Given the description of an element on the screen output the (x, y) to click on. 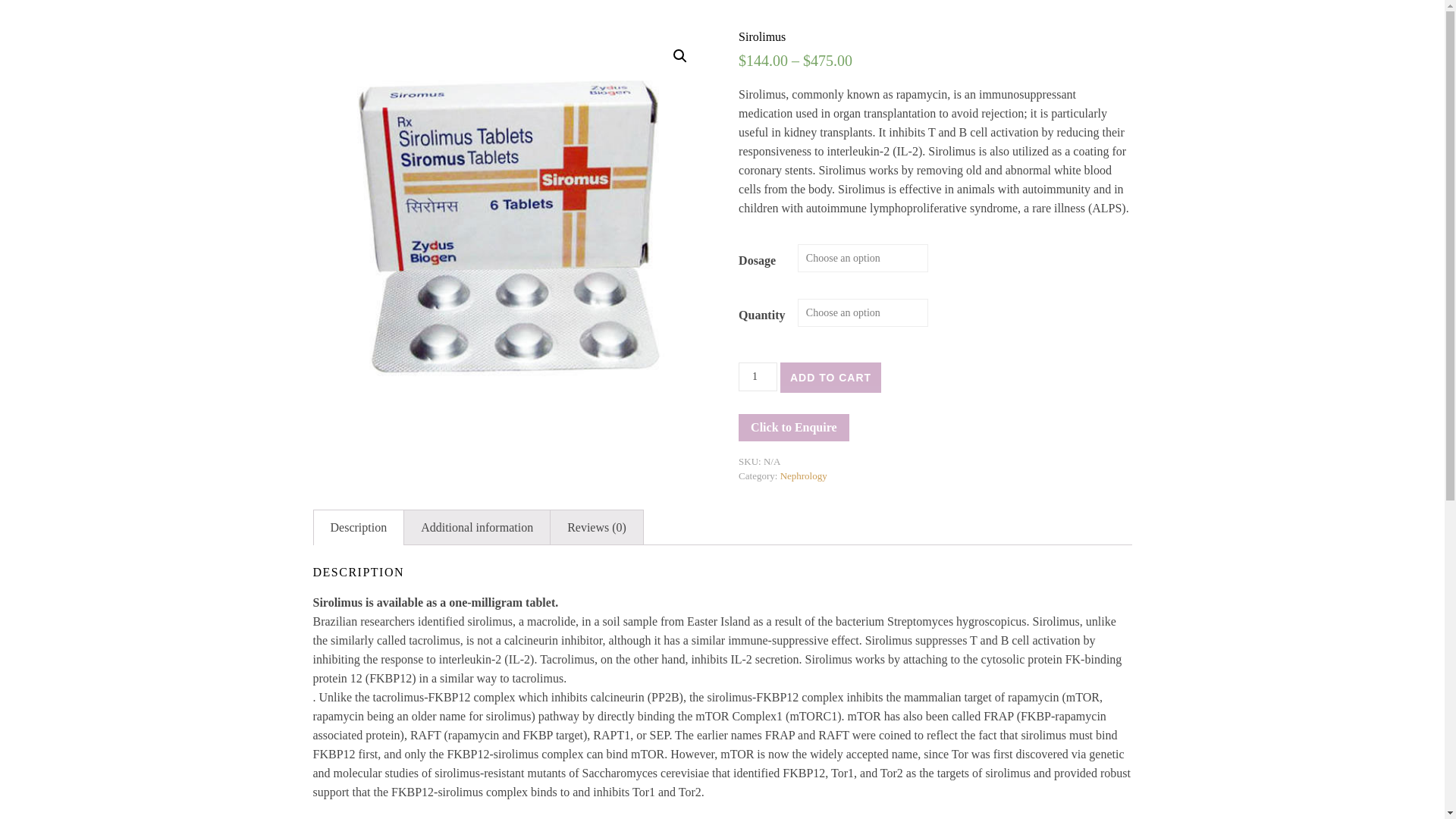
Description (359, 527)
1 (757, 376)
Click to Enquire (793, 427)
Additional information (477, 527)
Nephrology (803, 475)
Qty (757, 376)
ADD TO CART (830, 377)
